Given the description of an element on the screen output the (x, y) to click on. 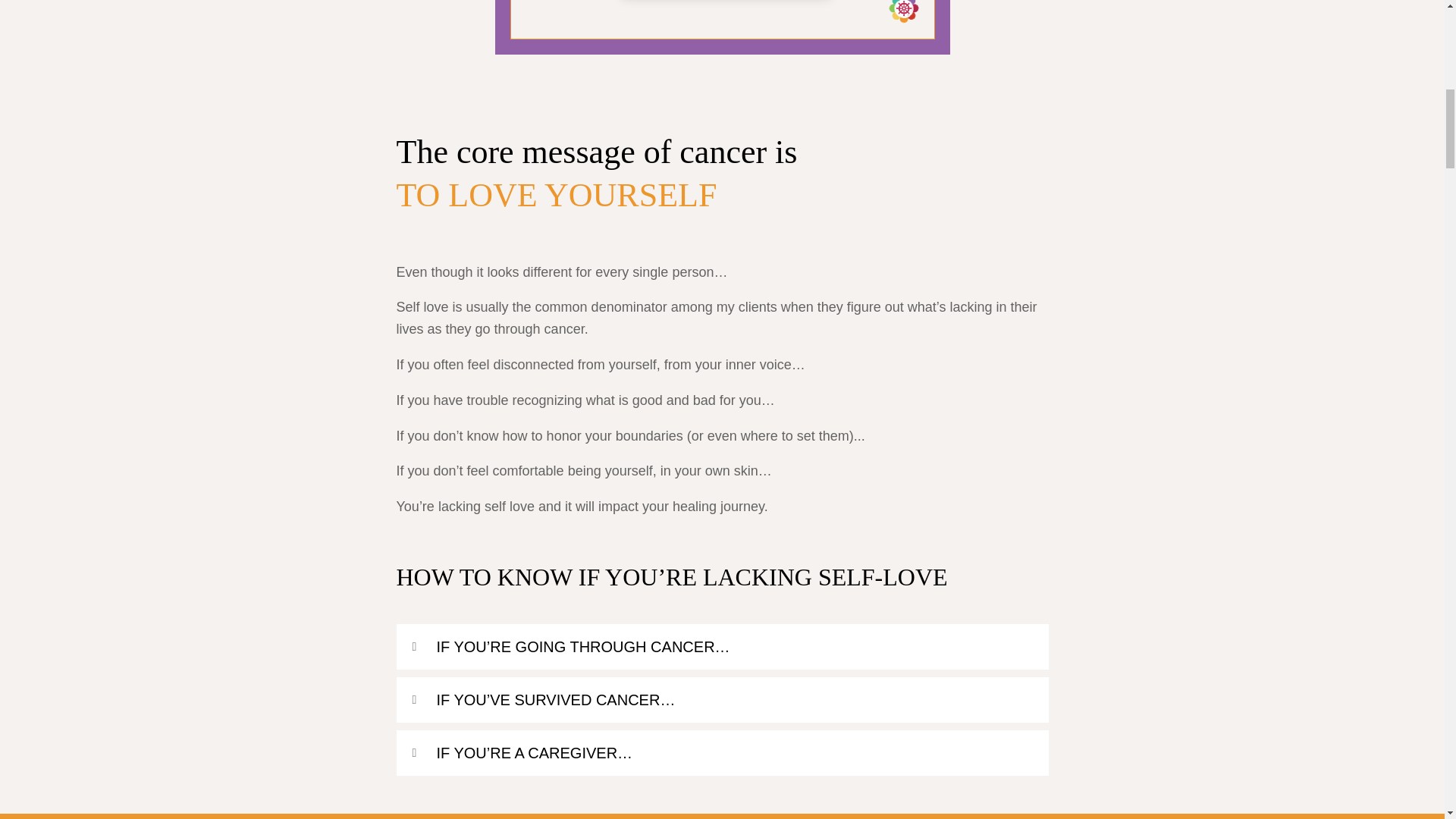
OCC Favicon (903, 11)
